Given the description of an element on the screen output the (x, y) to click on. 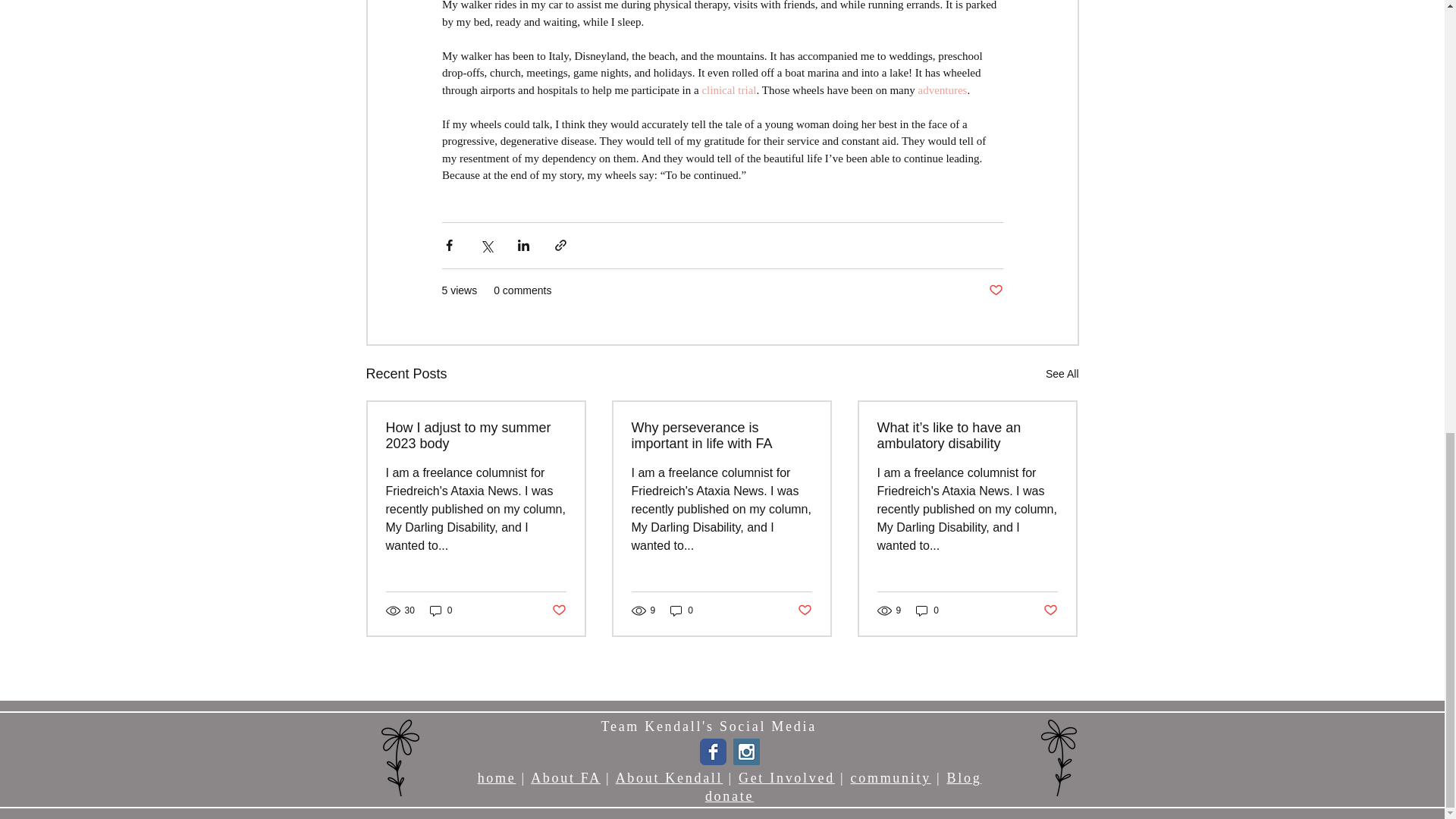
0 (441, 610)
Post not marked as liked (558, 610)
Post not marked as liked (1050, 610)
Get Involved (786, 777)
community (890, 777)
Blog (964, 777)
See All (1061, 373)
donate (729, 795)
clinical trial (728, 90)
Post not marked as liked (995, 290)
